Given the description of an element on the screen output the (x, y) to click on. 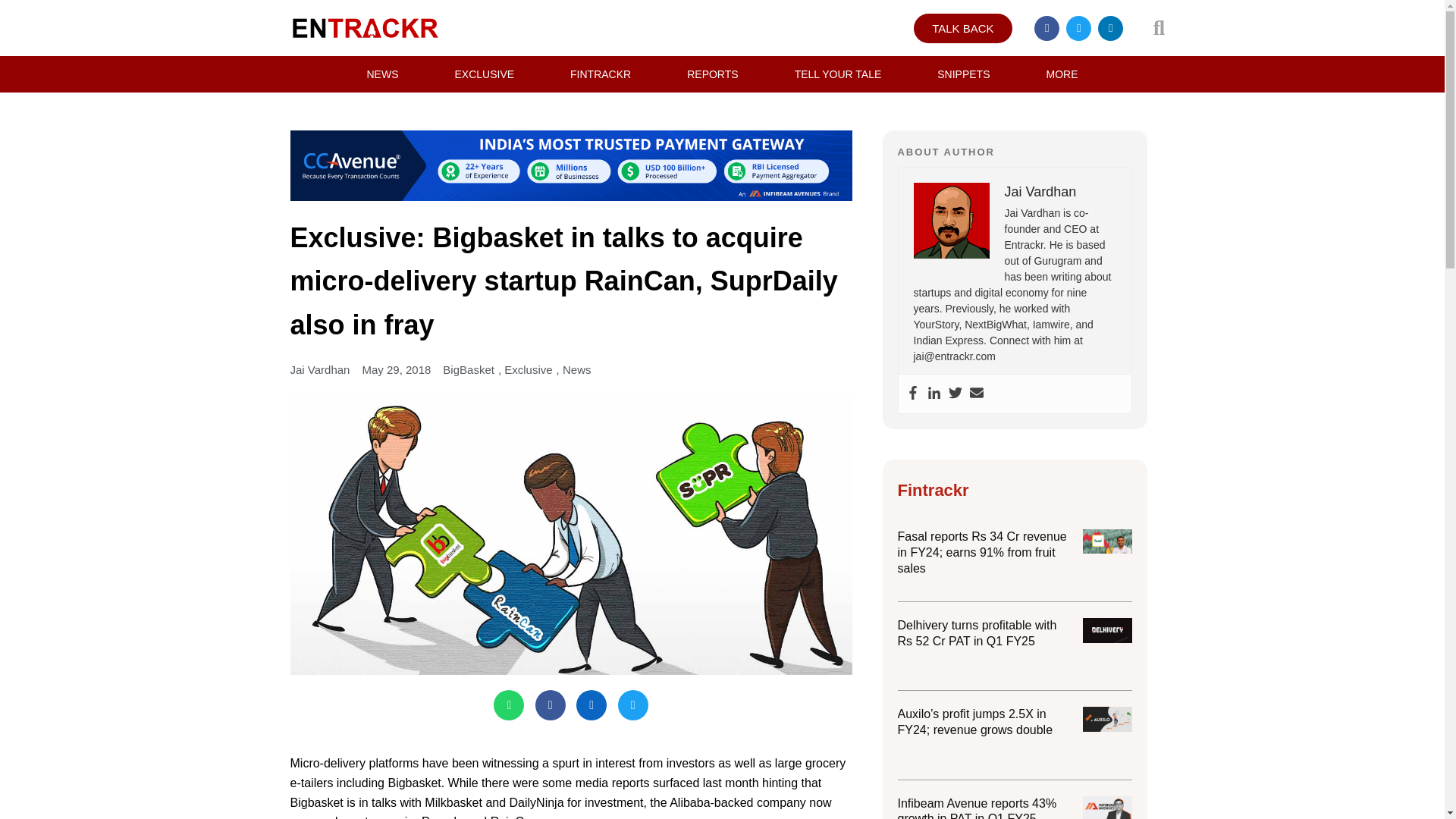
REPORTS (712, 74)
SNIPPETS (962, 74)
NEWS (381, 74)
TELL YOUR TALE (838, 74)
TALK BACK (962, 28)
EXCLUSIVE (483, 74)
MORE (1061, 74)
FINTRACKR (600, 74)
